Given the description of an element on the screen output the (x, y) to click on. 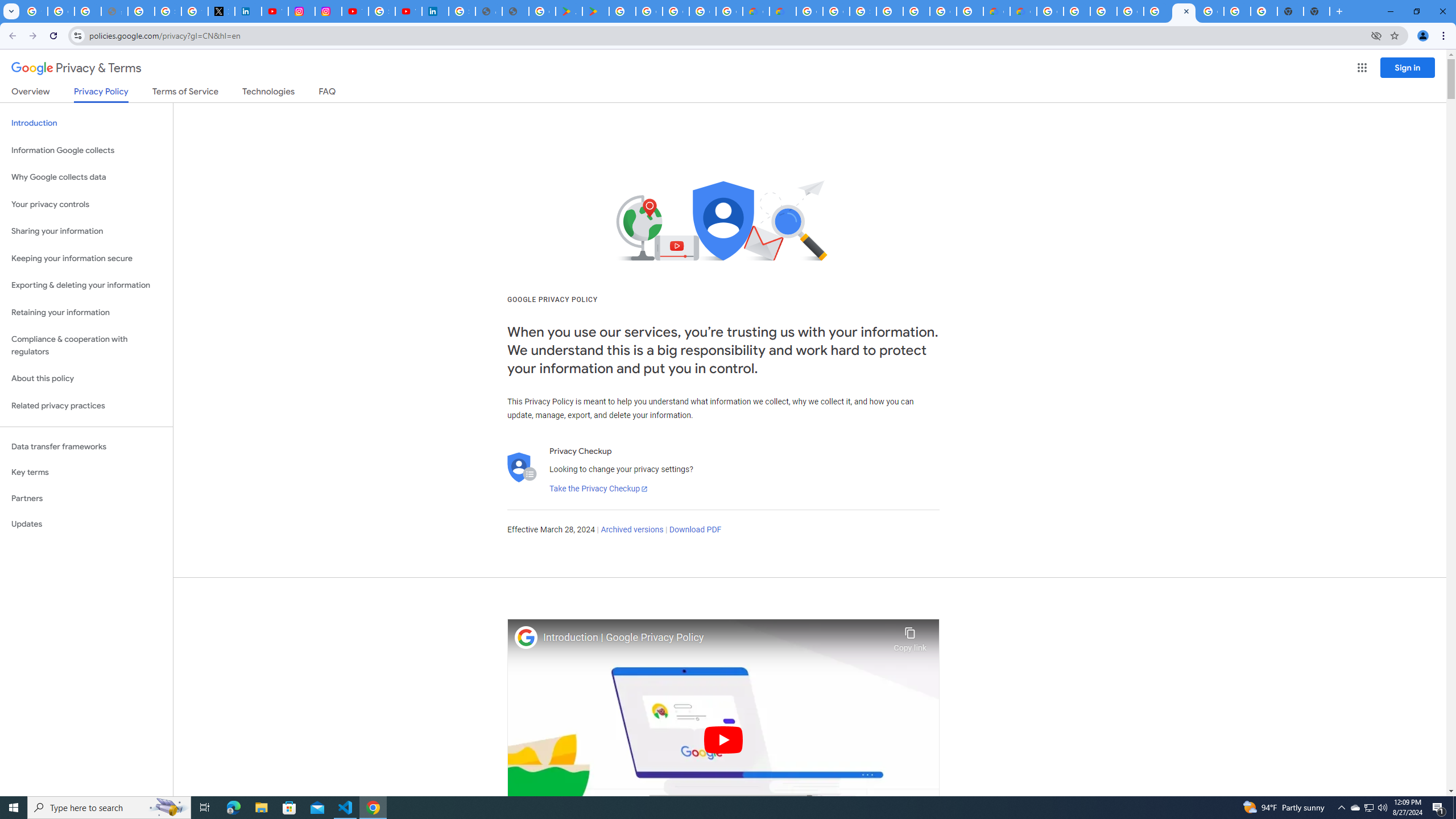
Photo image of Google (526, 636)
Browse Chrome as a guest - Computer - Google Chrome Help (1103, 11)
Sign in - Google Accounts (862, 11)
Google Cloud Platform (943, 11)
Google Cloud Platform (1130, 11)
Google Workspace - Specific Terms (702, 11)
Google Cloud Platform (1050, 11)
Key terms (86, 472)
Google Cloud Estimate Summary (1023, 11)
Google Cloud Platform (809, 11)
Updates (86, 524)
